Given the description of an element on the screen output the (x, y) to click on. 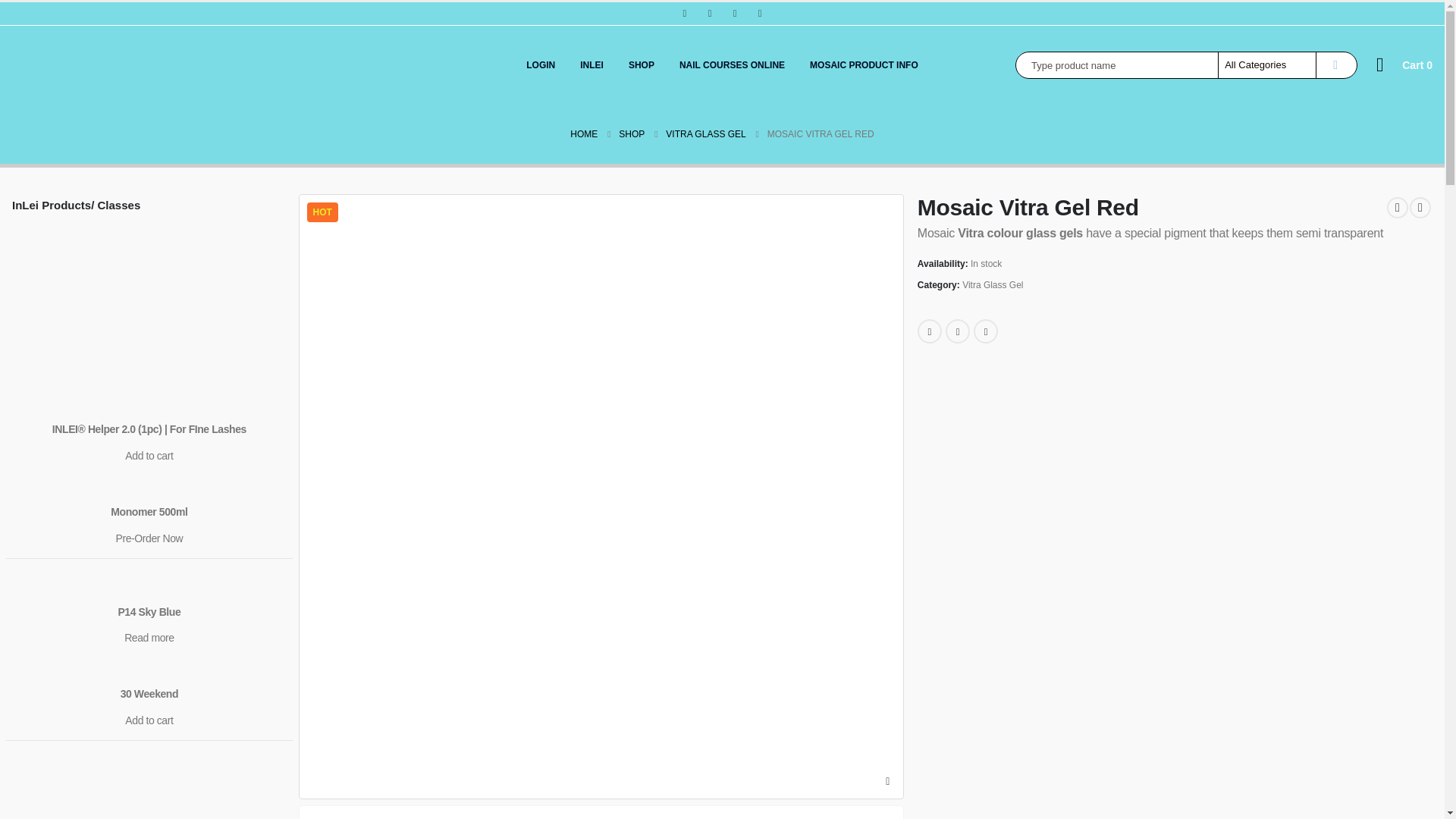
Instagram (759, 13)
Mosaic Vitra Gel Red (601, 813)
Youtube (734, 13)
SHOP (640, 64)
Pinterest (709, 13)
Go to Home Page (583, 134)
My Account (1379, 65)
LOGIN (540, 64)
Search (1335, 64)
Facebook (684, 13)
INLEI (591, 64)
